Given the description of an element on the screen output the (x, y) to click on. 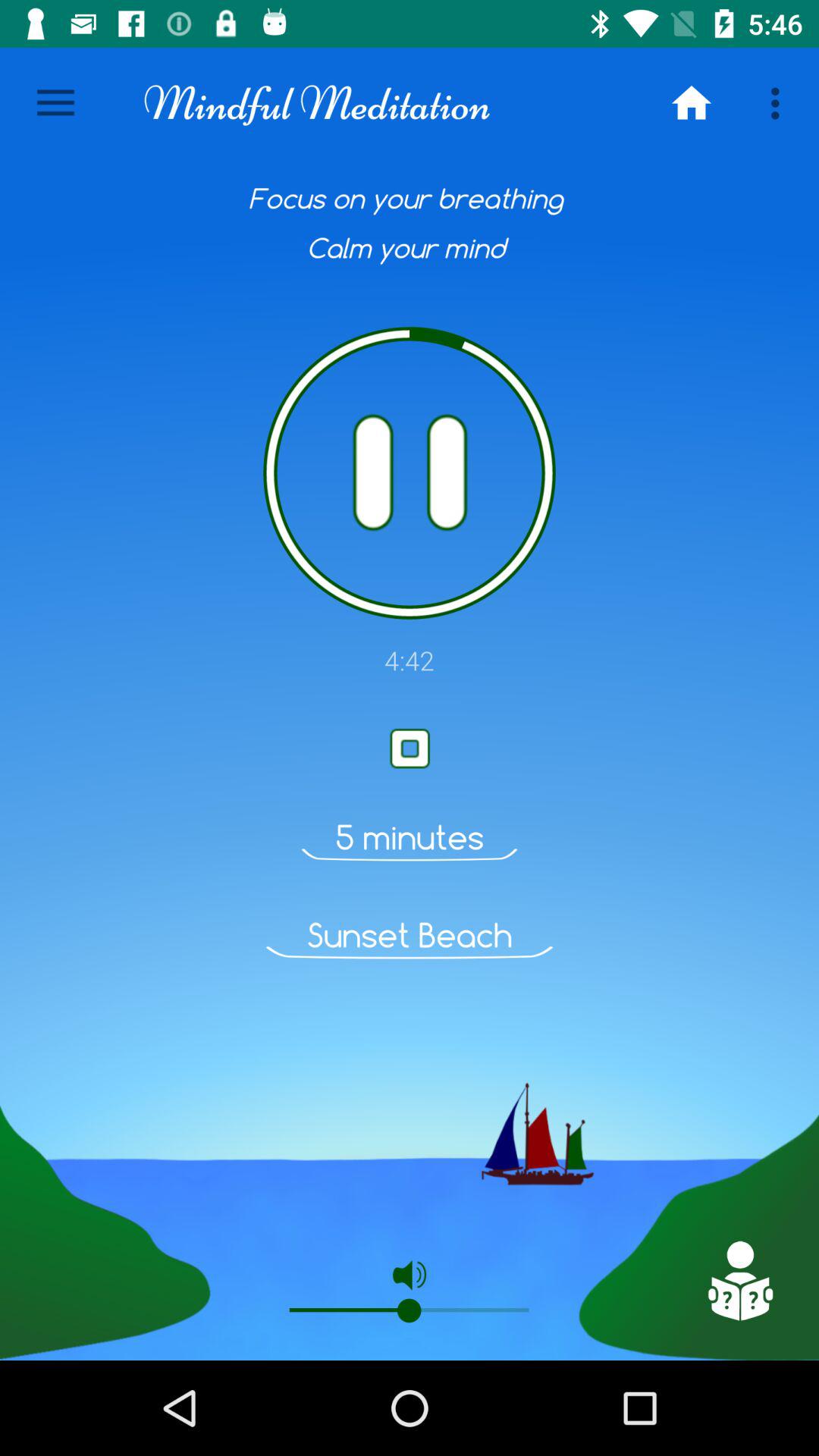
toggle play and pause (409, 472)
